Given the description of an element on the screen output the (x, y) to click on. 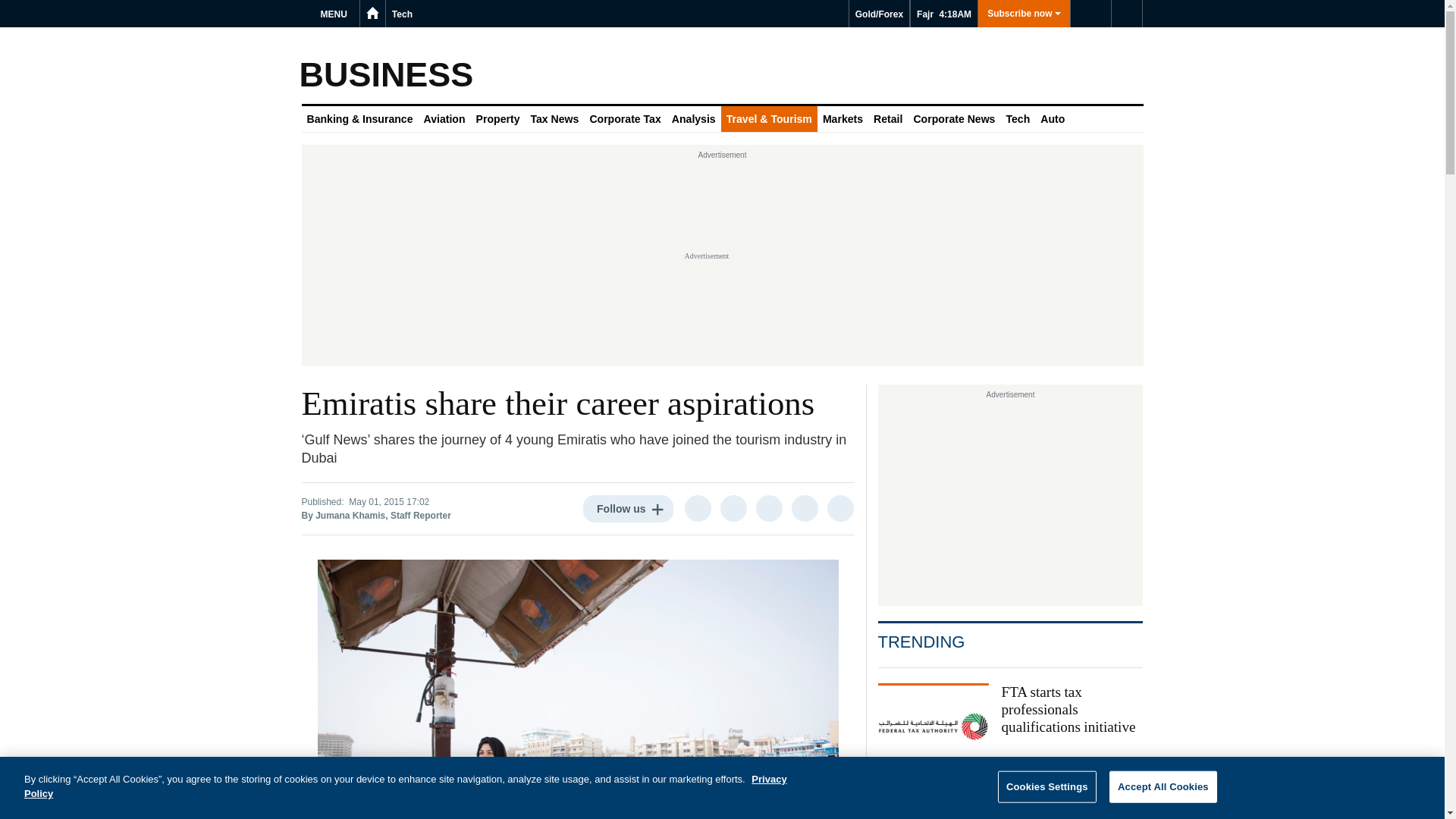
Subscribe now (1024, 13)
MENU (336, 13)
Fajr 4:18AM (943, 13)
3rd party ad content (1010, 498)
Tech (402, 13)
